Given the description of an element on the screen output the (x, y) to click on. 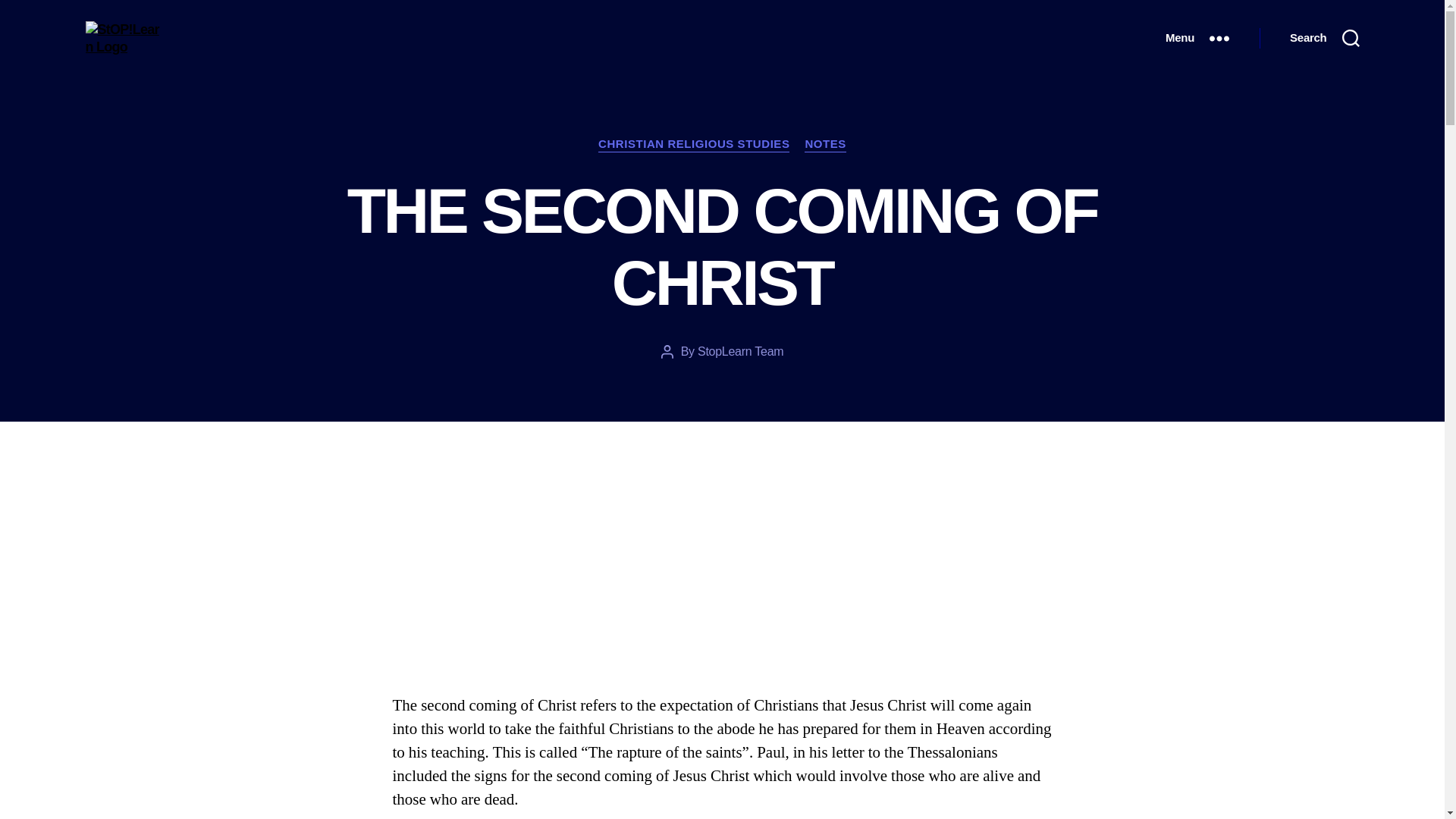
Menu (1197, 37)
Search (1324, 37)
